Given the description of an element on the screen output the (x, y) to click on. 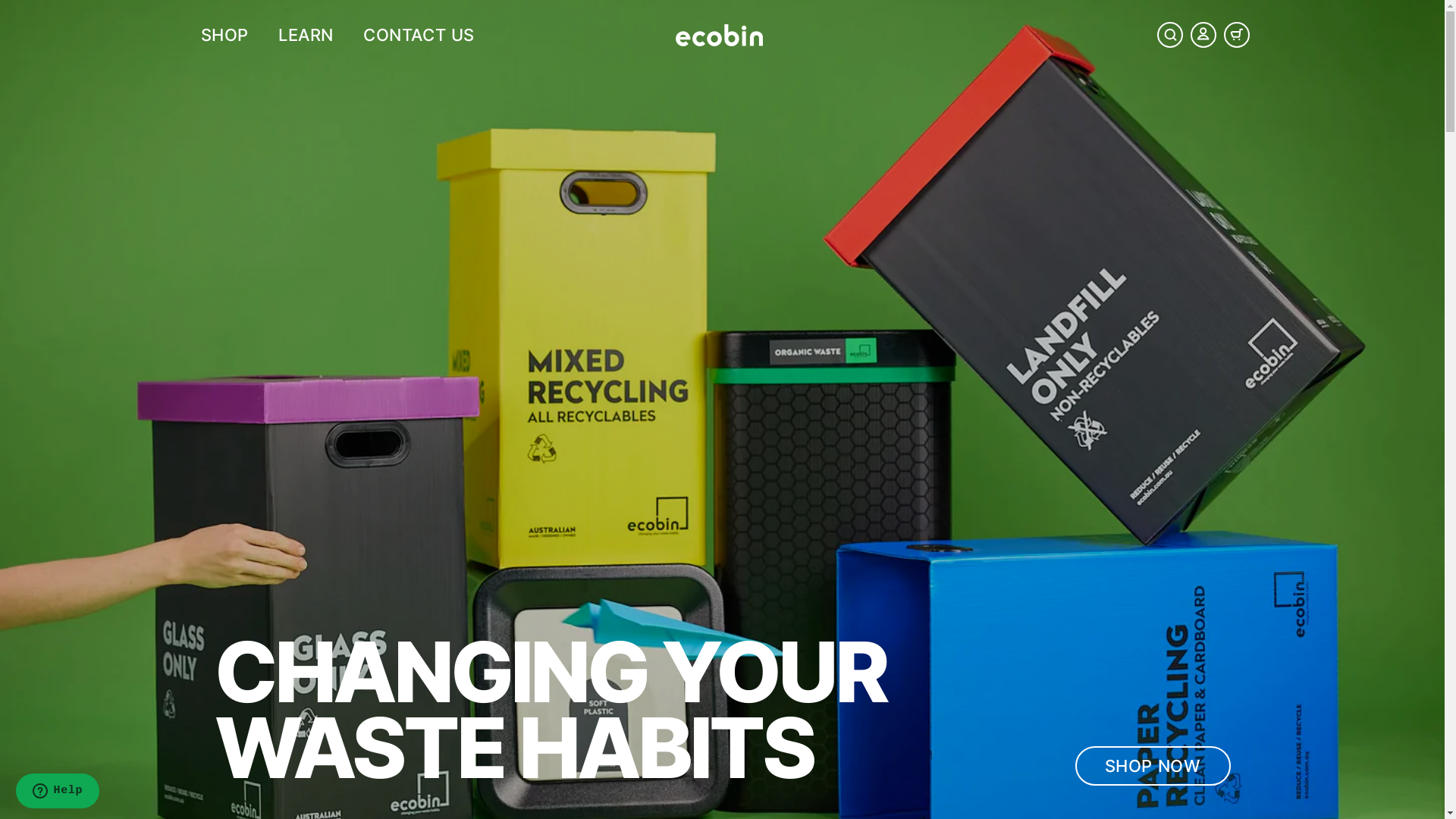
CONTACT US Element type: text (418, 35)
Cart Element type: text (1235, 34)
Opens a widget where you can chat to one of our agents Element type: hover (57, 792)
Log in Element type: text (1202, 34)
SHOP NOW Element type: text (1152, 765)
